Given the description of an element on the screen output the (x, y) to click on. 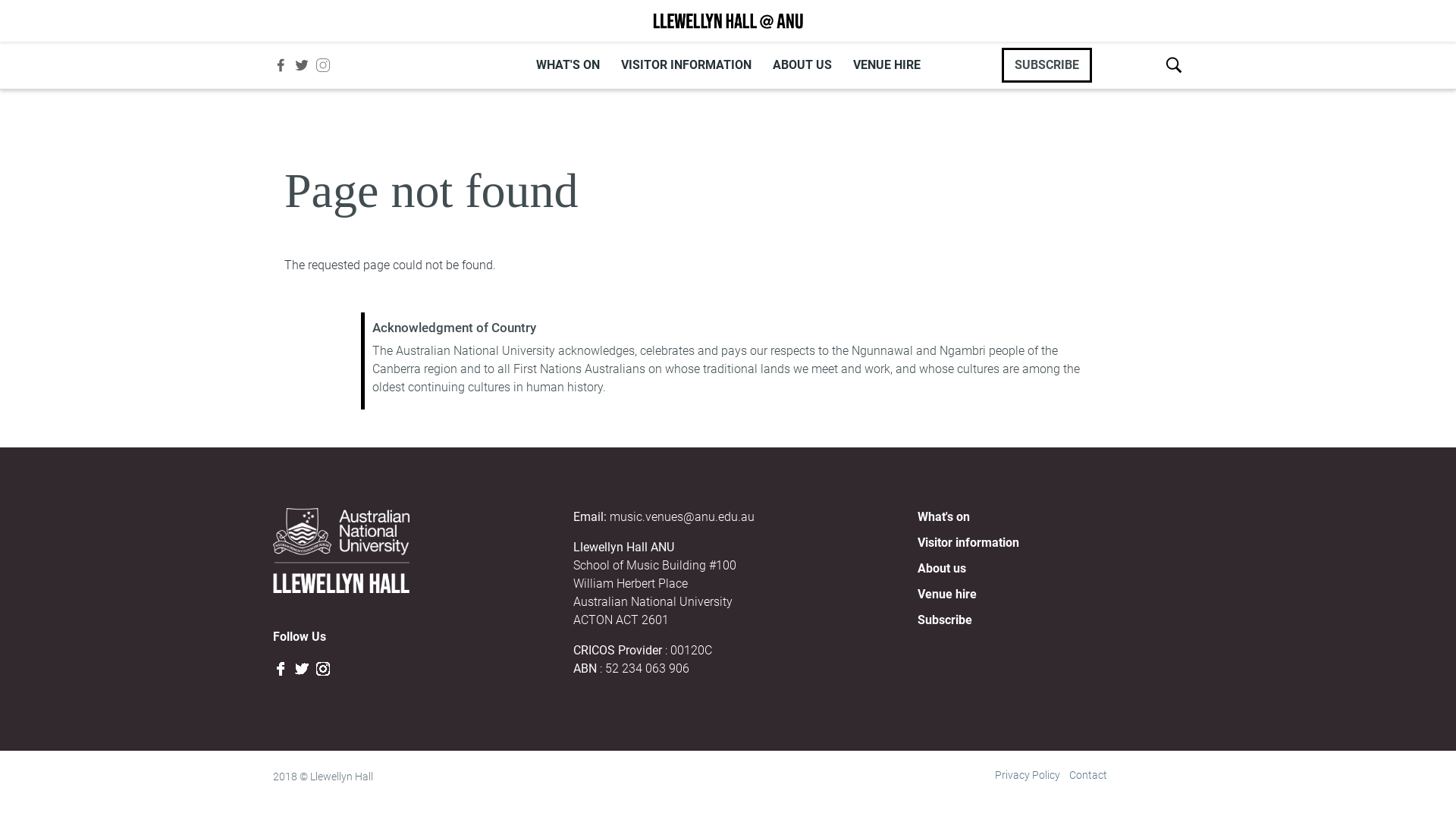
What's on Element type: text (943, 516)
Venue hire Element type: text (946, 593)
ABOUT US Element type: text (801, 64)
About us Element type: text (941, 568)
Privacy Policy Element type: text (1027, 774)
Contact Element type: text (1088, 774)
VISITOR INFORMATION Element type: text (685, 64)
Visitor information Element type: text (968, 542)
music.venues@anu.edu.au Element type: text (681, 516)
SUBSCRIBE Element type: text (1046, 64)
Subscribe Element type: text (944, 619)
VENUE HIRE Element type: text (885, 64)
WHAT'S ON Element type: text (566, 64)
